Given the description of an element on the screen output the (x, y) to click on. 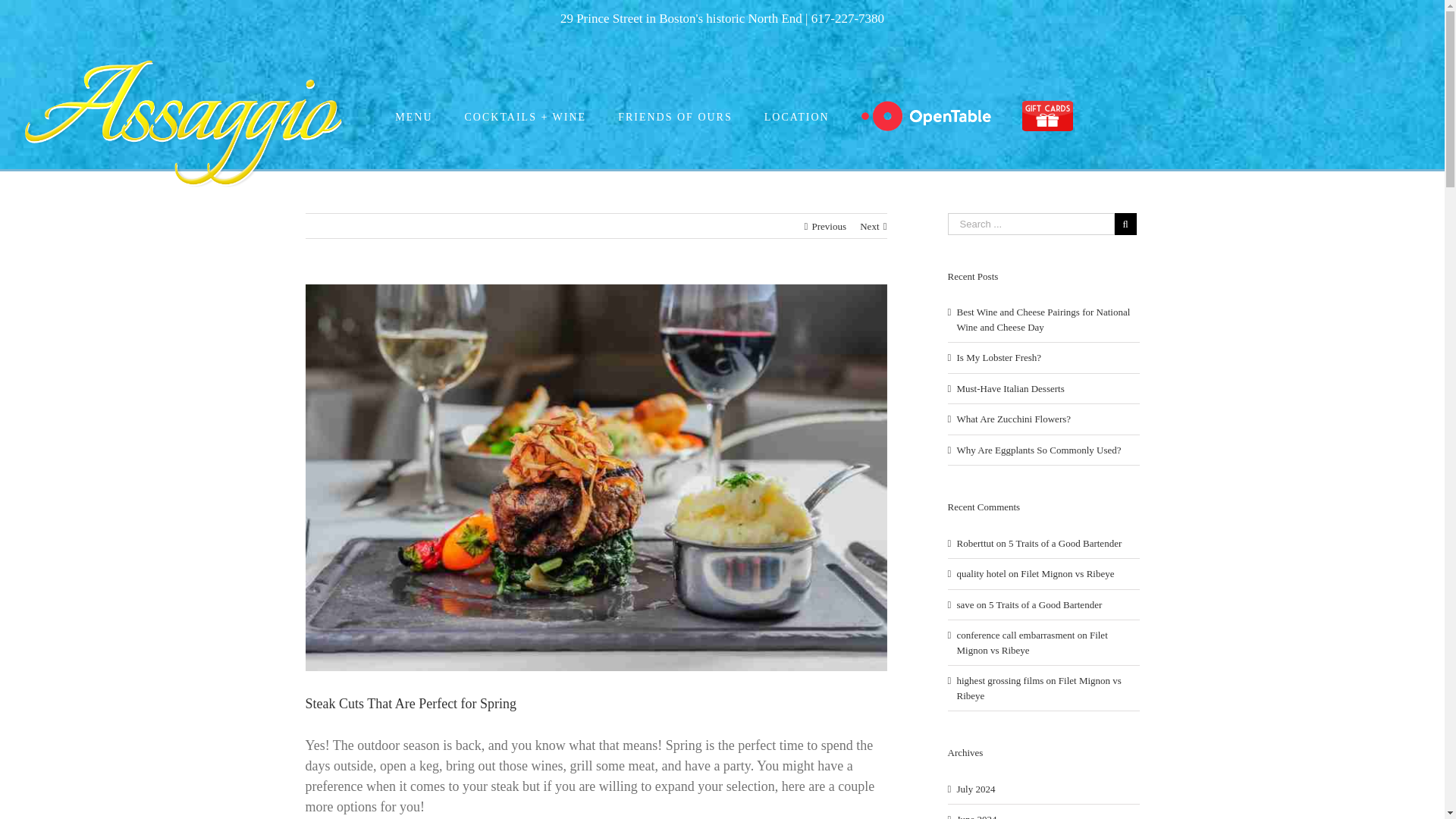
MENU (413, 116)
LOCATION (796, 116)
Previous (827, 226)
FRIENDS OF OURS (674, 116)
